Given the description of an element on the screen output the (x, y) to click on. 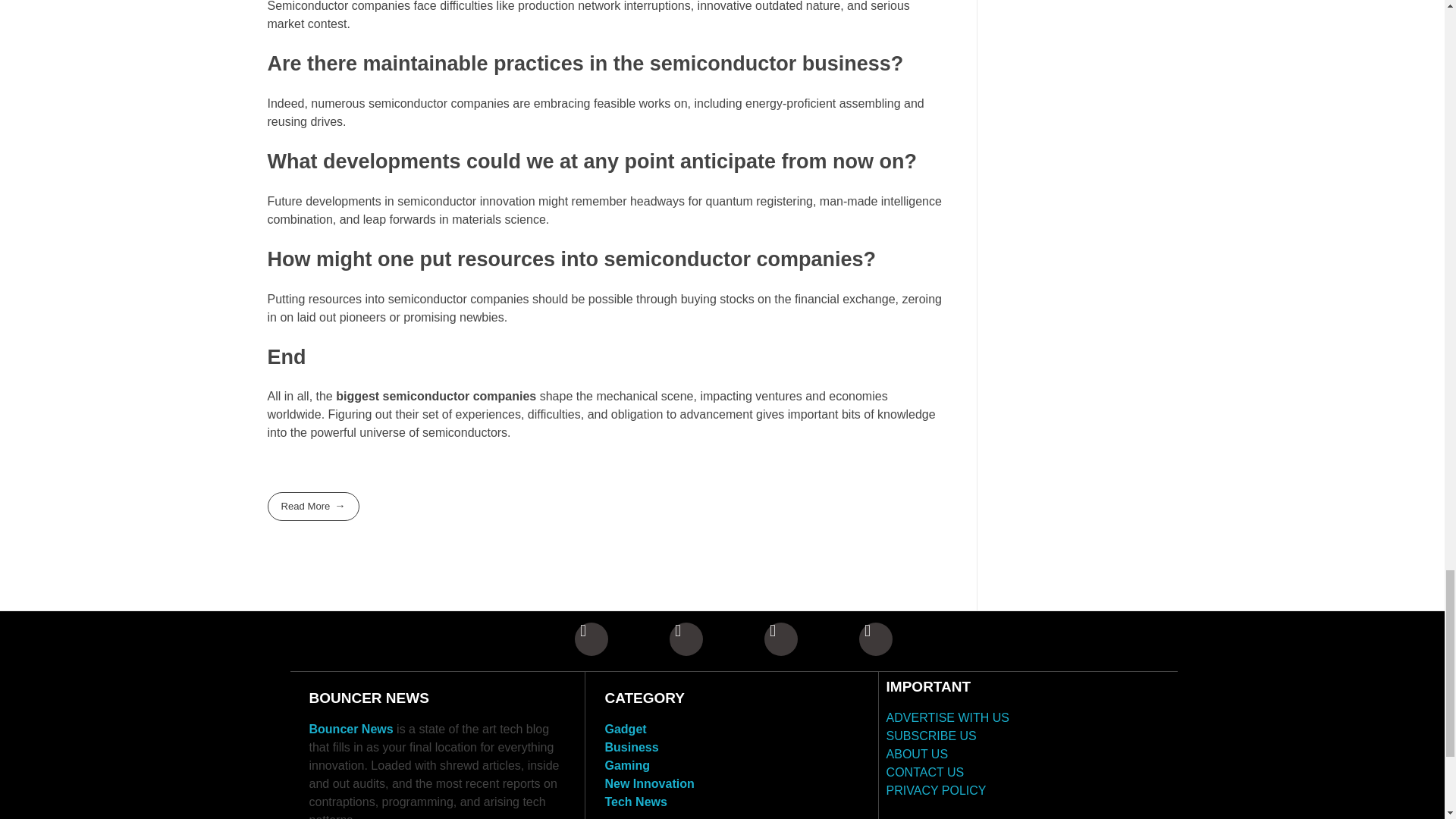
Read More (312, 506)
